Given the description of an element on the screen output the (x, y) to click on. 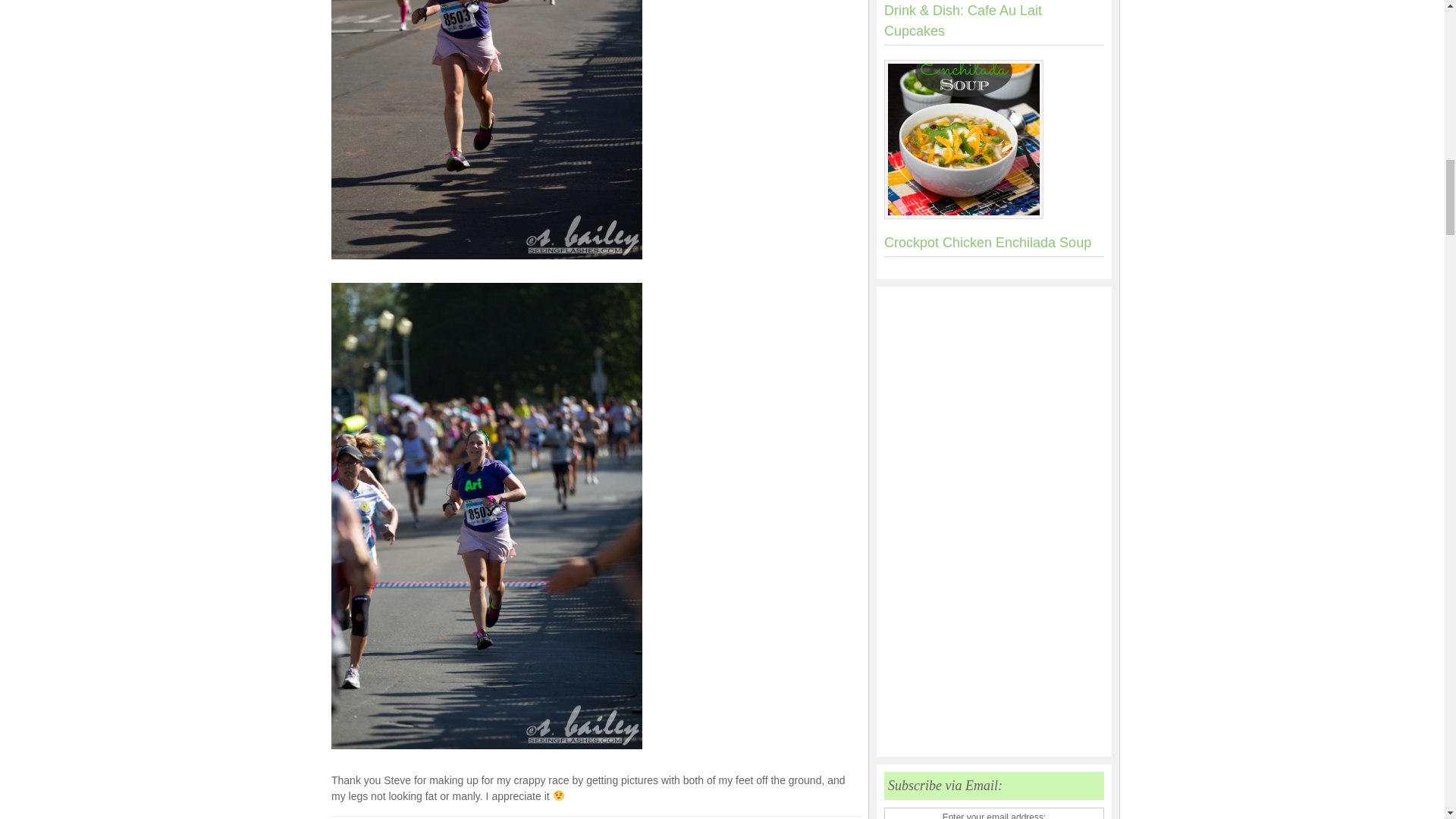
afcsandiegohalf-177 (486, 129)
